Given the description of an element on the screen output the (x, y) to click on. 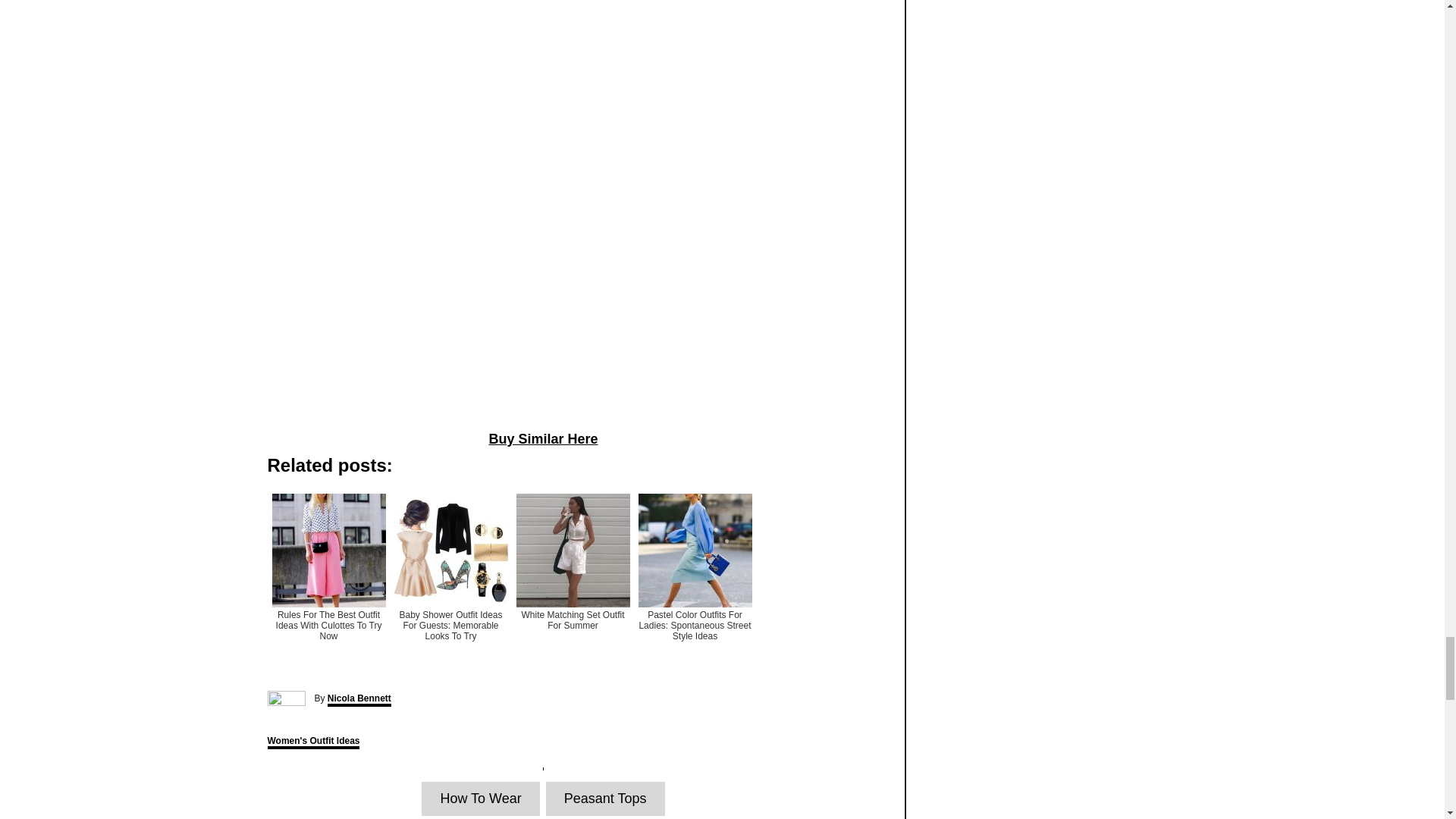
Women's Outfit Ideas (312, 742)
How To Wear (480, 798)
Nicola Bennett (359, 699)
Buy Similar Here (541, 438)
Peasant Tops (605, 798)
